Given the description of an element on the screen output the (x, y) to click on. 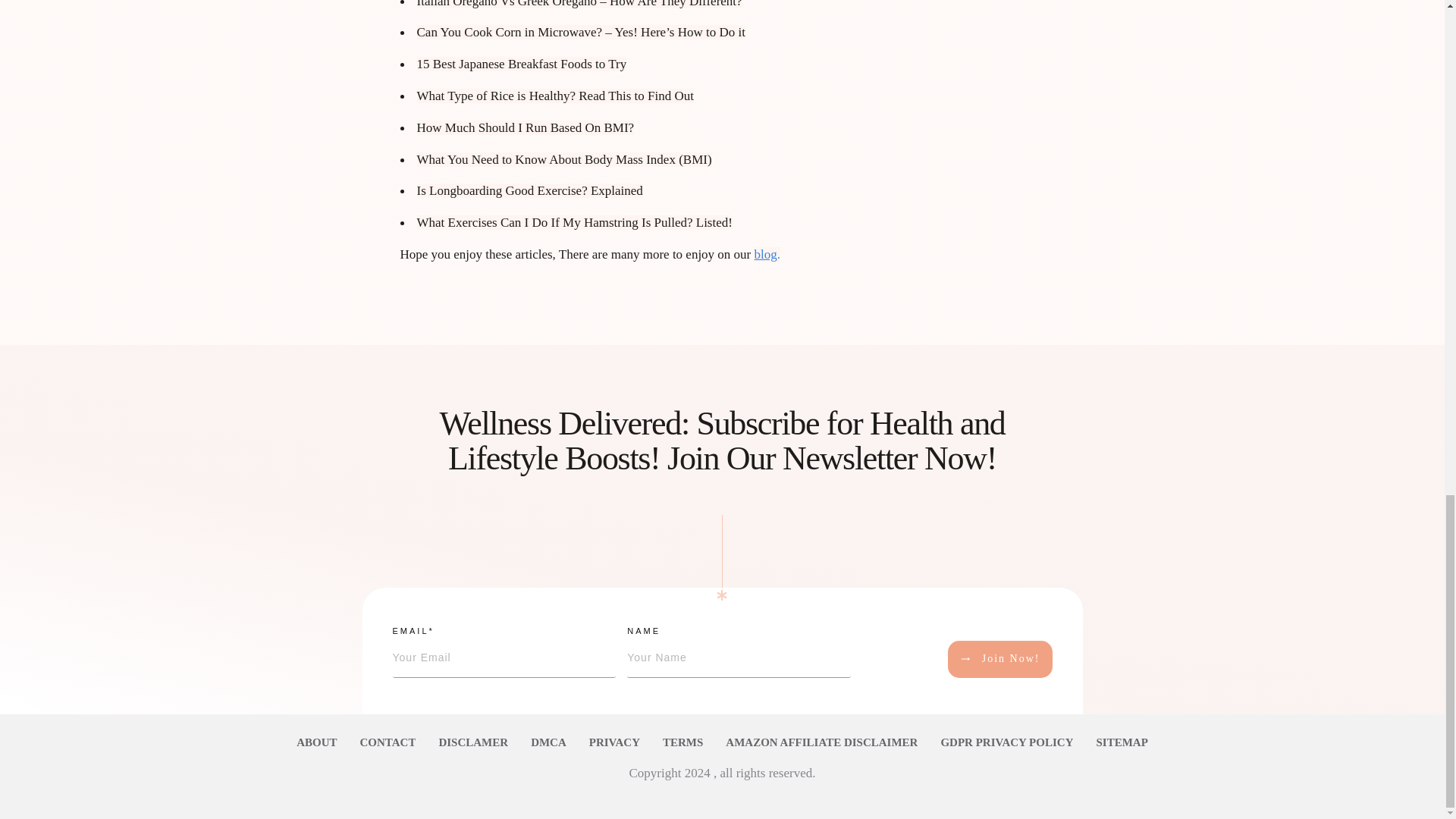
15 Best Japanese Breakfast Foods to Try (521, 63)
ABOUT (316, 742)
DMCA (548, 742)
Join Now! (999, 659)
CONTACT (387, 742)
Is Longboarding Good Exercise? Explained (529, 190)
blog. (767, 254)
What Exercises Can I Do If My Hamstring Is Pulled? Listed! (574, 222)
What Type of Rice is Healthy? Read This to Find Out (555, 95)
PRIVACY (614, 742)
